Given the description of an element on the screen output the (x, y) to click on. 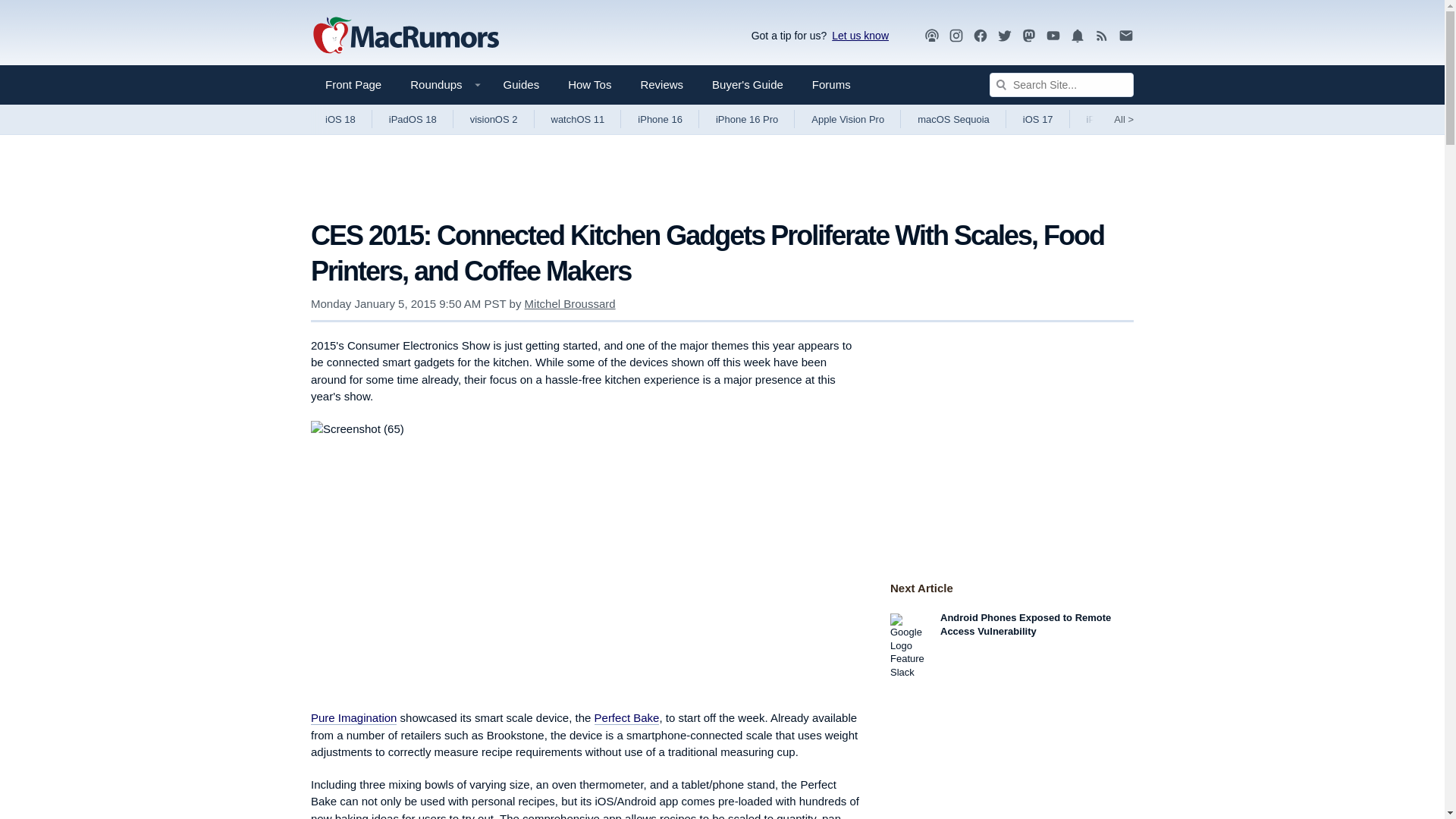
Facebook (980, 35)
Instagram (956, 35)
Mastodon (1029, 35)
Podcast (931, 35)
Newsletter (1126, 35)
MacRumors RSS Feed (1101, 35)
Forums (830, 84)
Roundups (441, 84)
Newsletter (1126, 35)
Apple, Mac, iPhone, iPad News and Rumors (405, 36)
